Given the description of an element on the screen output the (x, y) to click on. 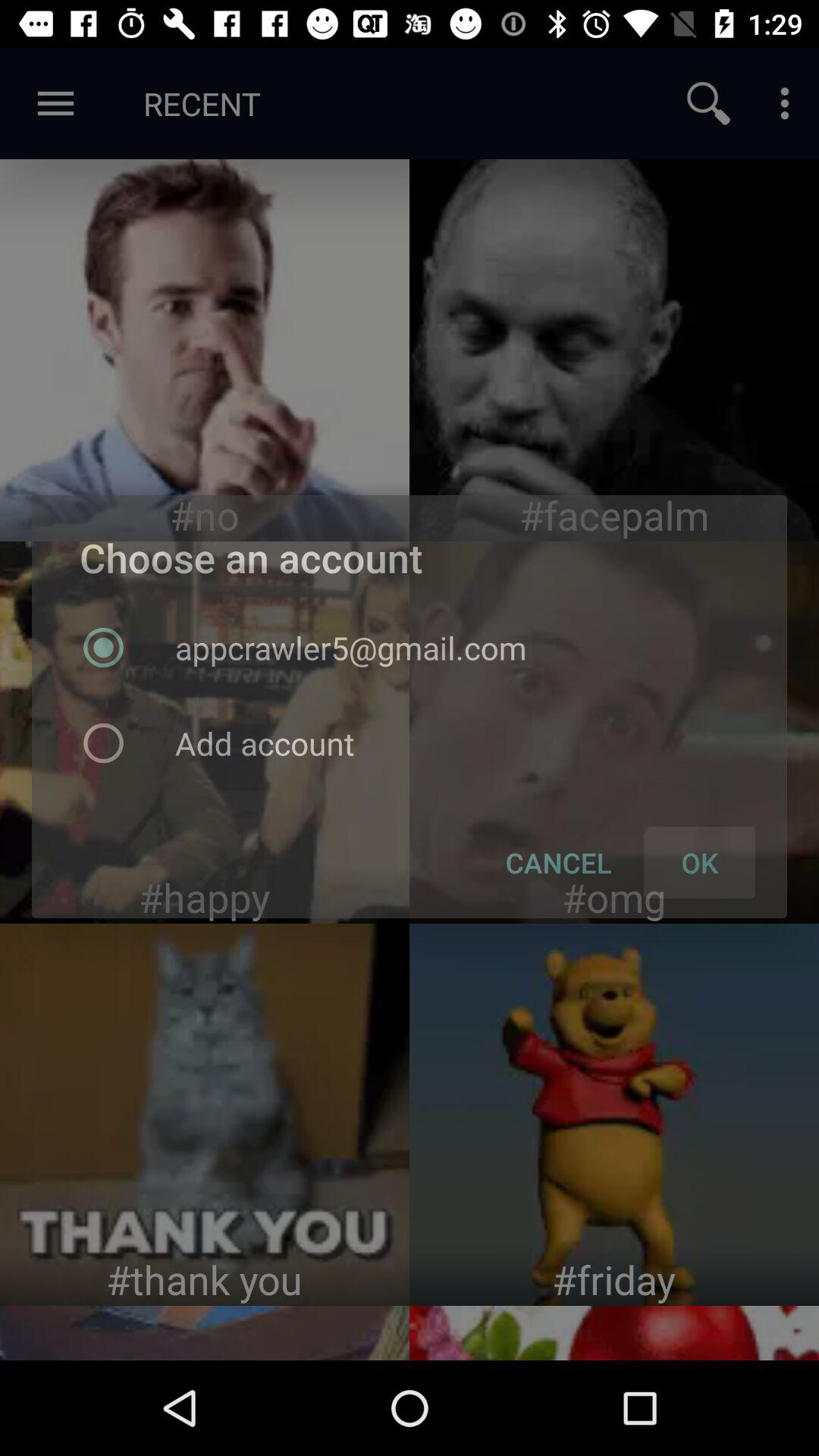
image screen (204, 732)
